Given the description of an element on the screen output the (x, y) to click on. 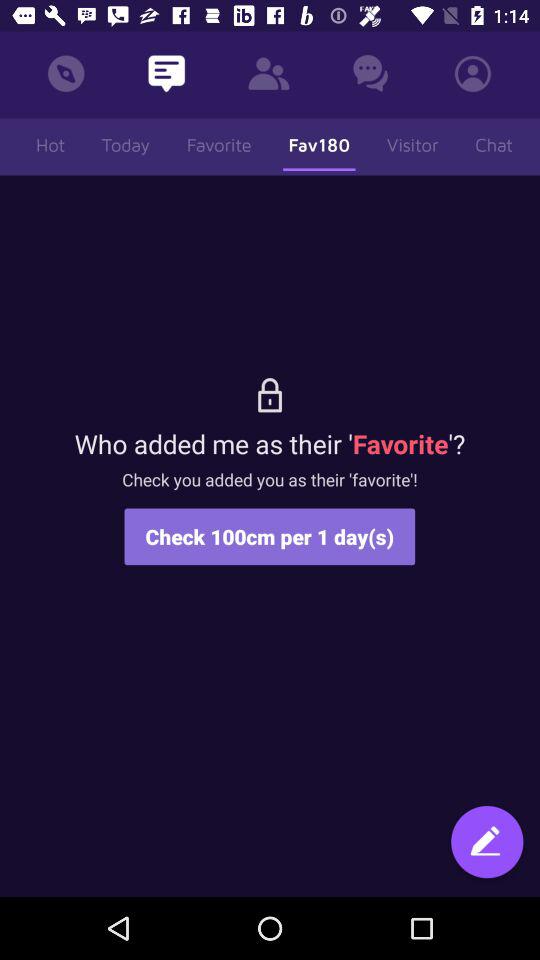
choose the icon below check you added (269, 536)
